Given the description of an element on the screen output the (x, y) to click on. 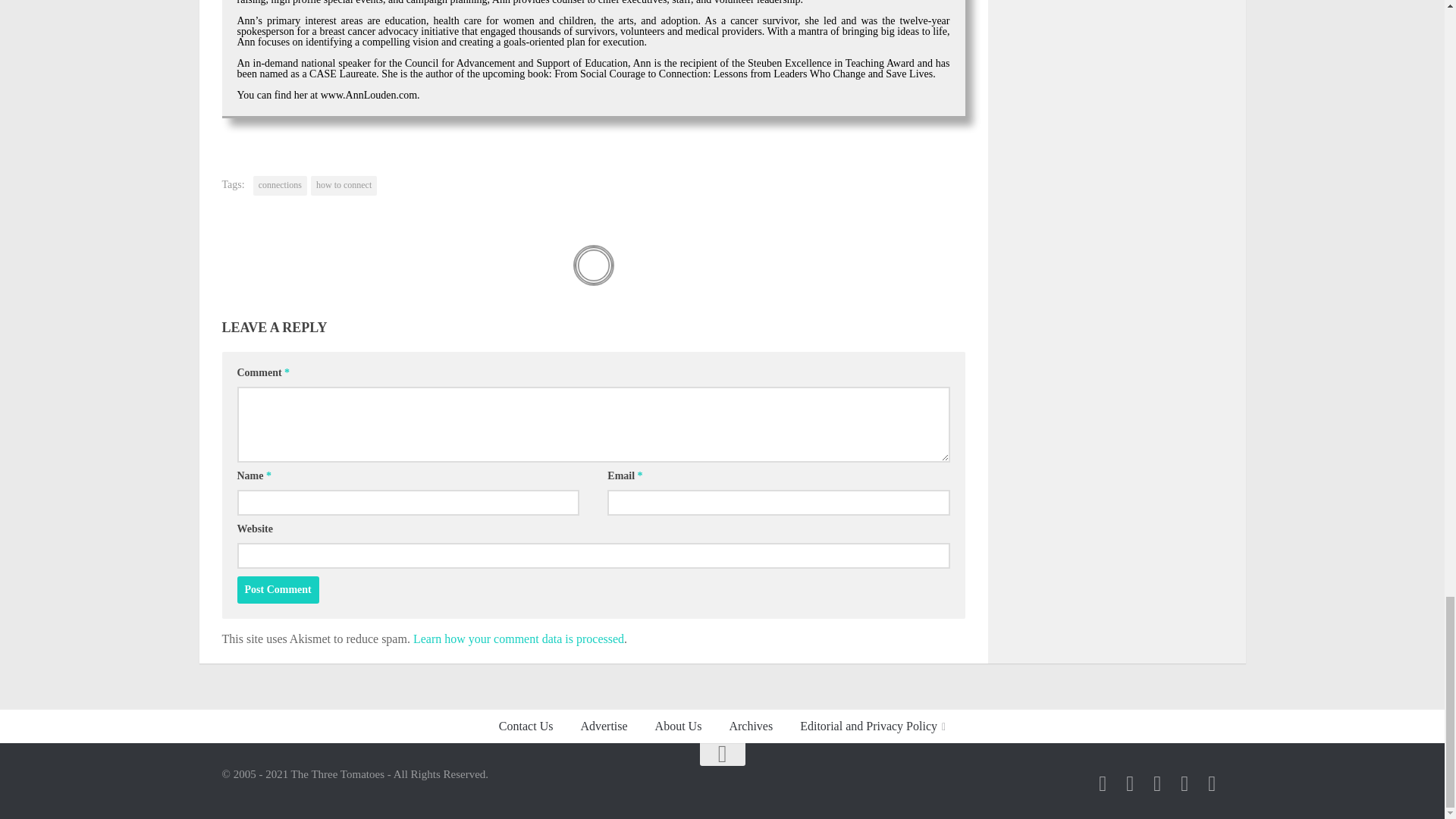
Post Comment (276, 589)
